Given the description of an element on the screen output the (x, y) to click on. 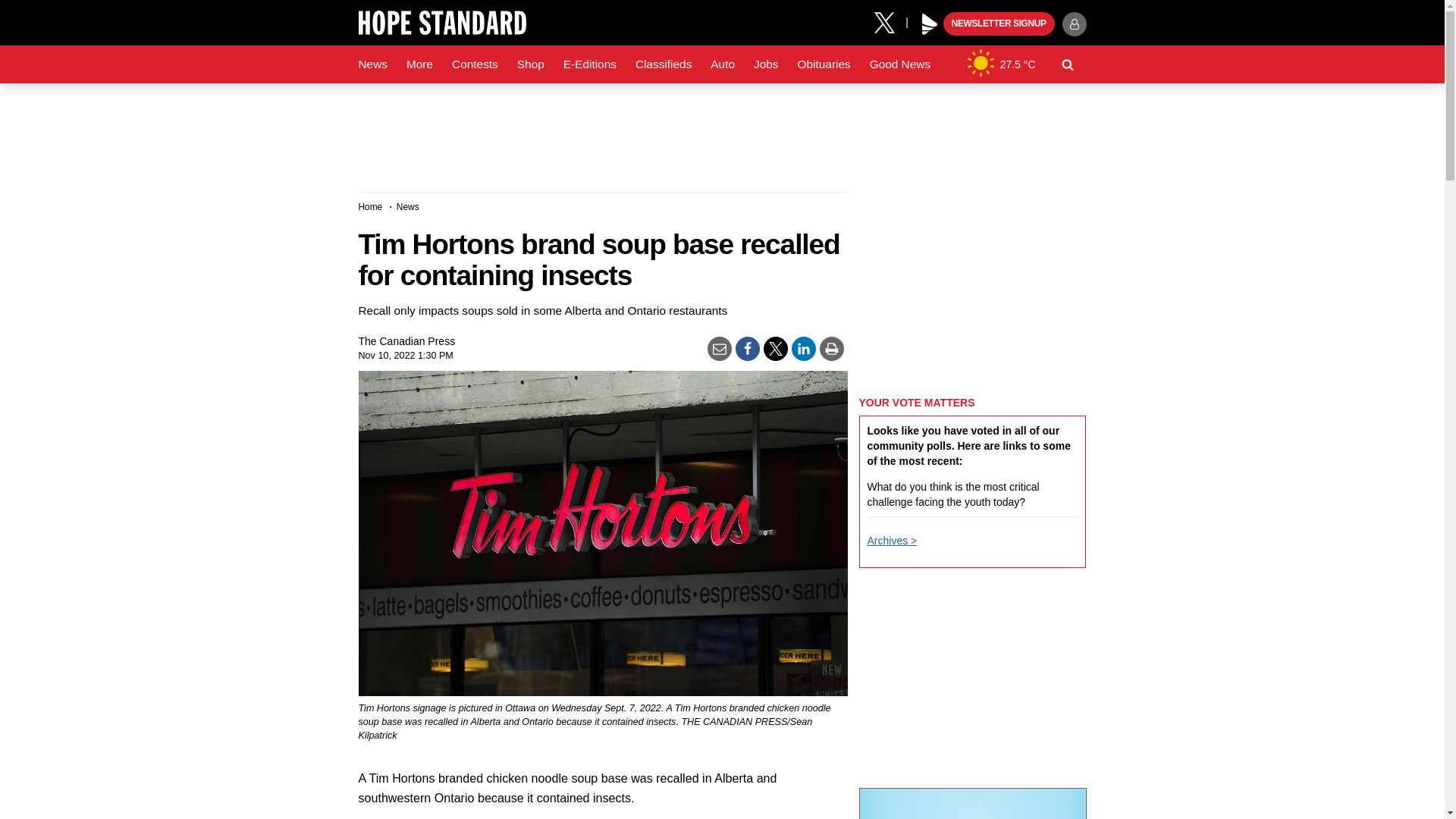
News (372, 64)
X (889, 21)
Black Press Media (929, 24)
NEWSLETTER SIGNUP (998, 24)
3rd party ad content (721, 131)
Play (929, 24)
